Given the description of an element on the screen output the (x, y) to click on. 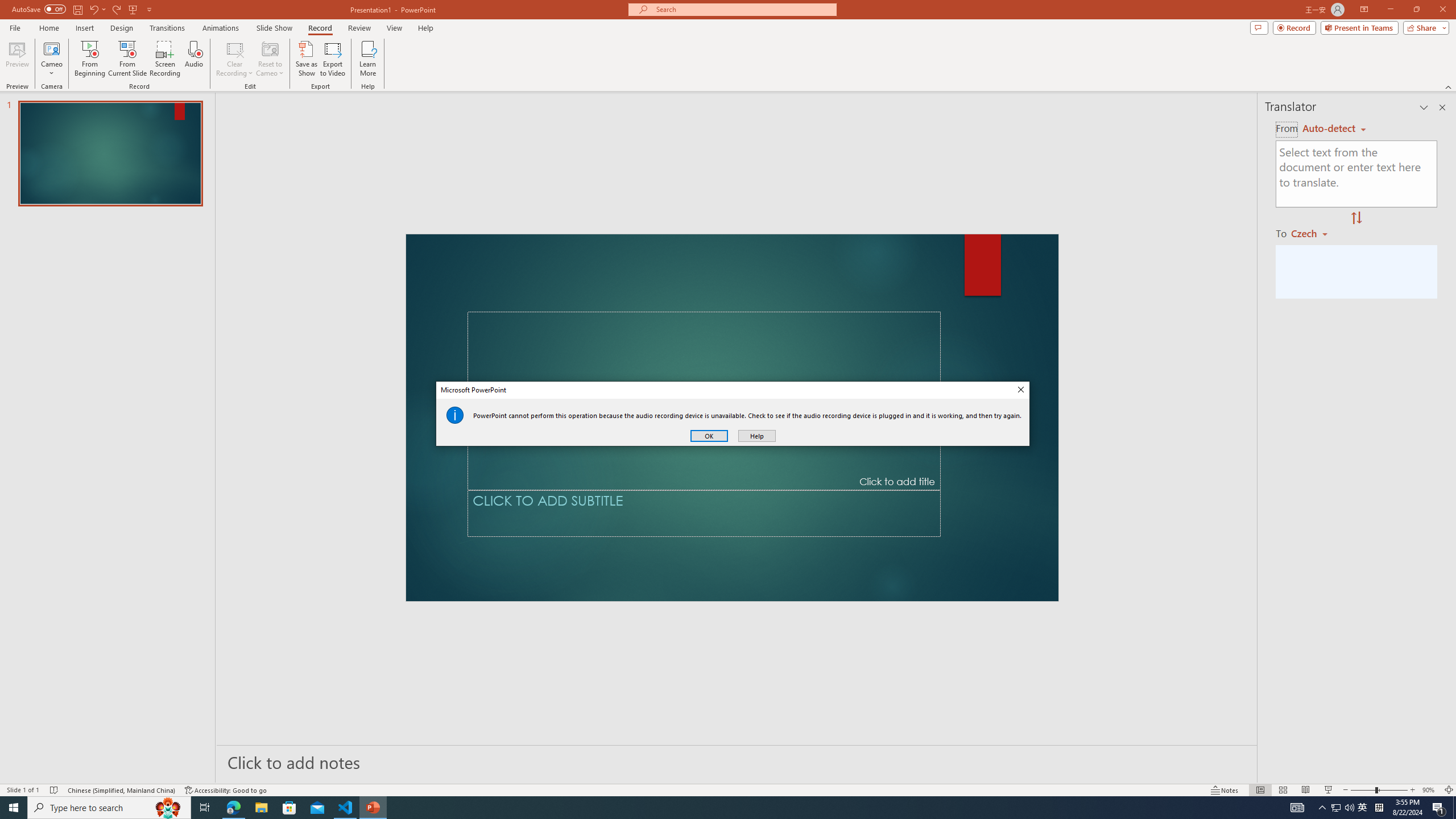
Auto-detect (1334, 128)
Czech (1313, 232)
Action Center, 1 new notification (1439, 807)
